Given the description of an element on the screen output the (x, y) to click on. 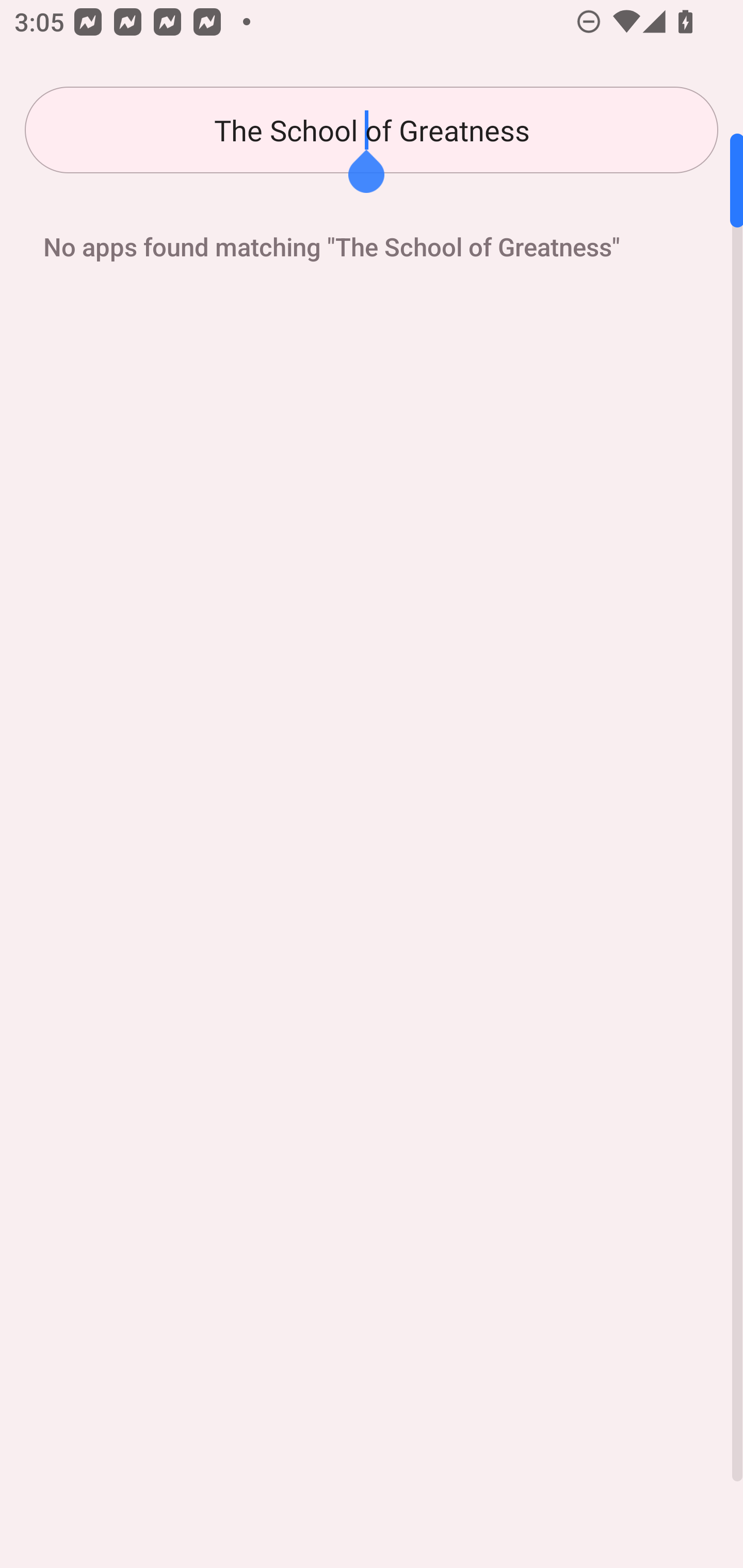
The School of Greatness (371, 130)
